Given the description of an element on the screen output the (x, y) to click on. 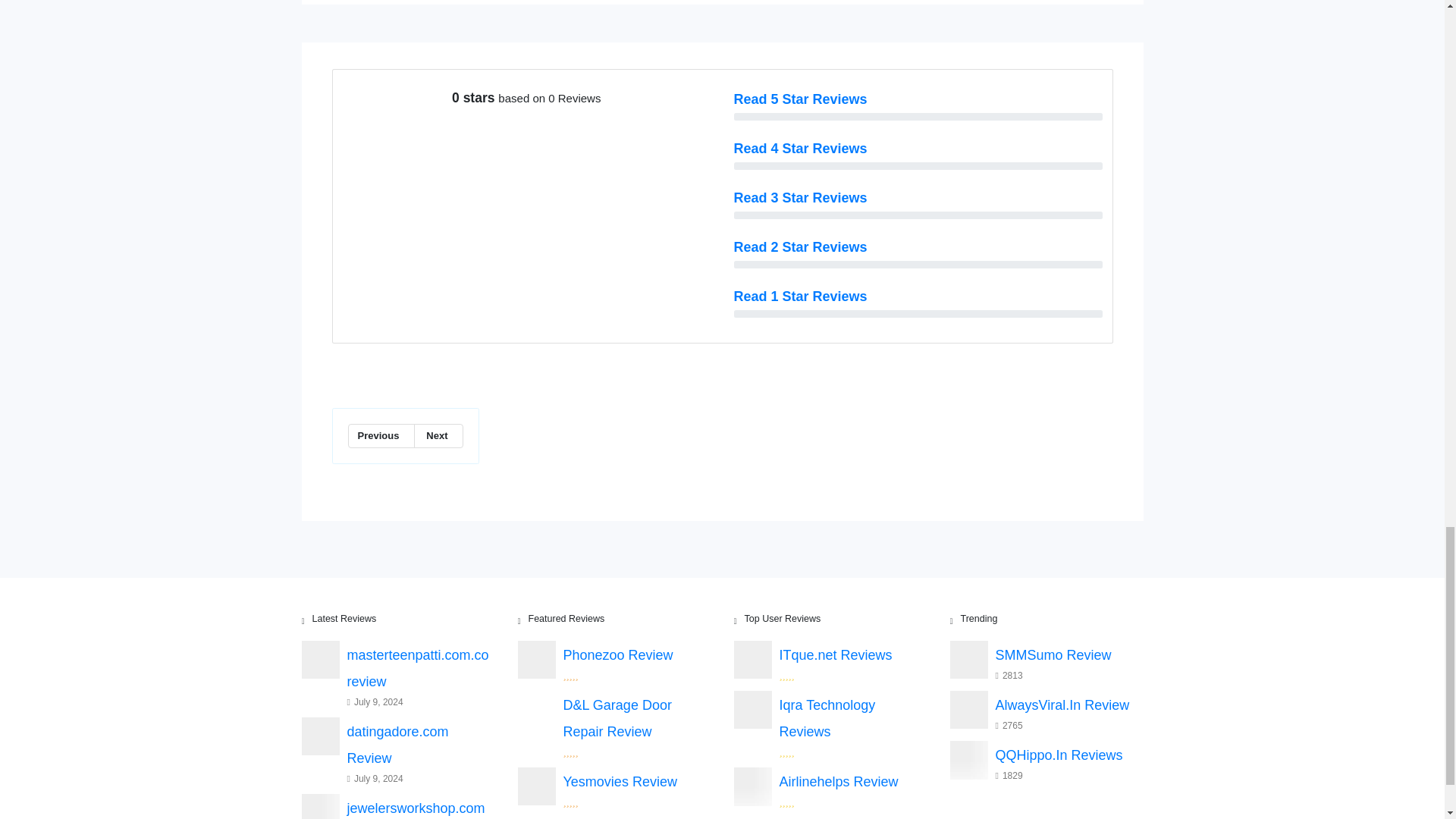
Read 4 Star Reviews (800, 148)
Read 3 Star Reviews (800, 197)
Read 5 Star Reviews (800, 99)
